Given the description of an element on the screen output the (x, y) to click on. 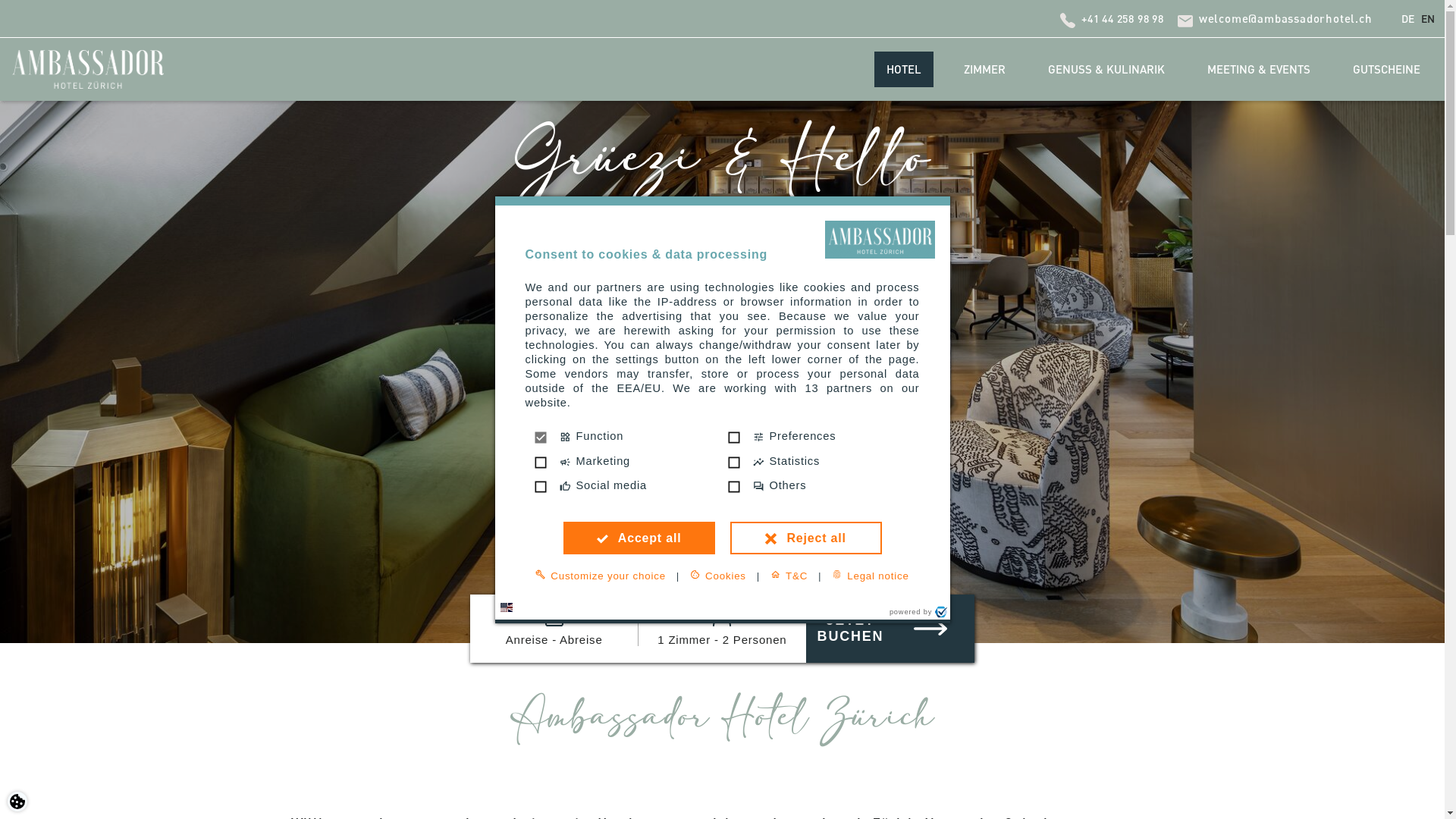
JETZT BUCHEN Element type: text (890, 628)
MEETING & EVENTS Element type: text (1258, 69)
HOTEL Element type: text (903, 69)
ZIMMER Element type: text (984, 69)
Deutsch Element type: hover (1407, 18)
GUTSCHEINE Element type: text (1386, 69)
English Element type: hover (1427, 18)
+41 44 258 98 98 Element type: text (1122, 18)
welcome@ambassadorhotel.ch Element type: text (1285, 18)
GENUSS & KULINARIK Element type: text (1105, 69)
